Given the description of an element on the screen output the (x, y) to click on. 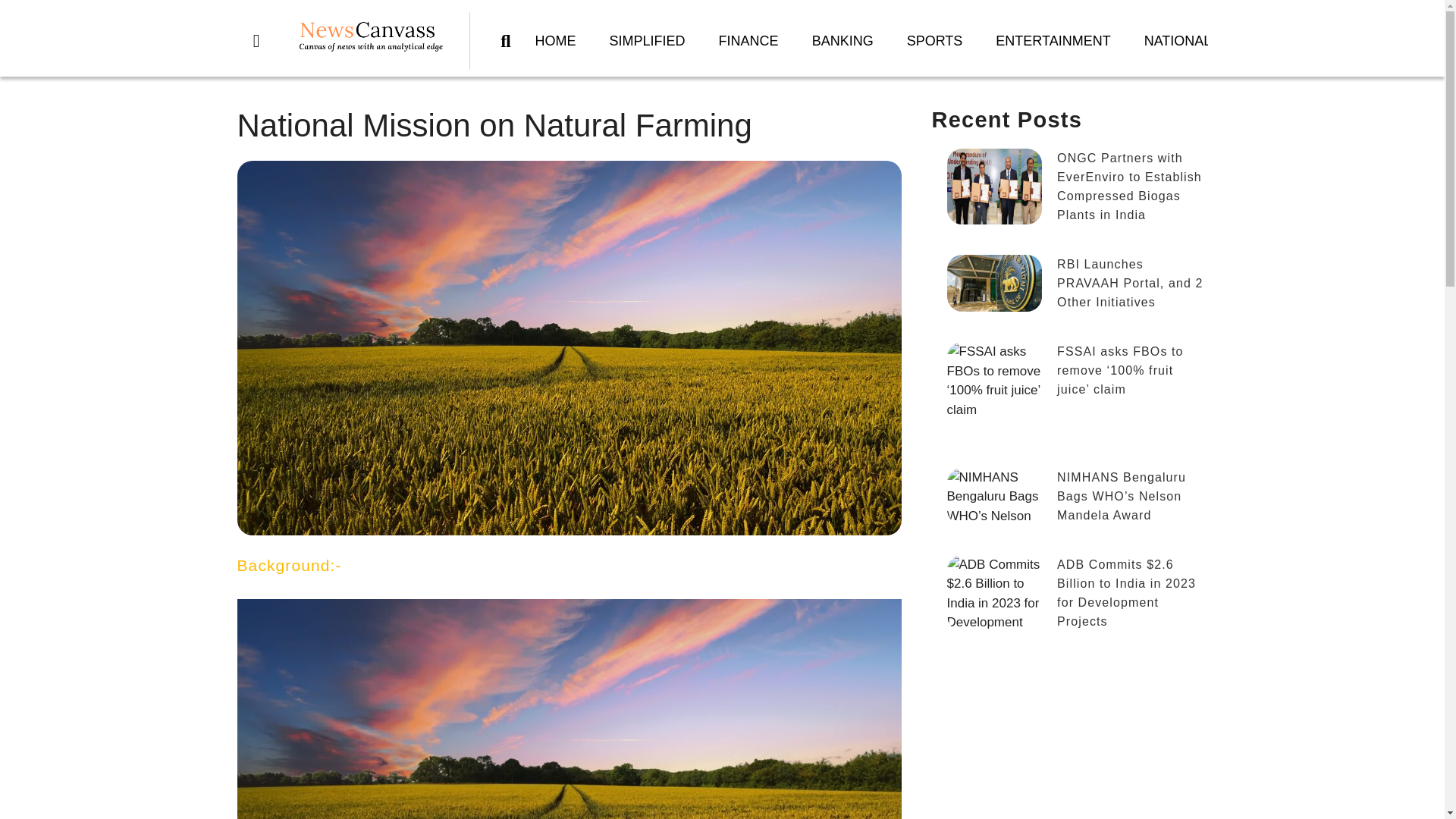
SIMPLIFIED (646, 40)
INTERNATIONAL (1298, 40)
BANKING (841, 40)
HOME (555, 40)
FINANCE (747, 40)
ENTERTAINMENT (1052, 40)
RBI Launches PRAVAAH Portal, and 2 Other Initiatives (1069, 290)
Search (509, 40)
NATIONAL (1177, 40)
SPORTS (934, 40)
